Given the description of an element on the screen output the (x, y) to click on. 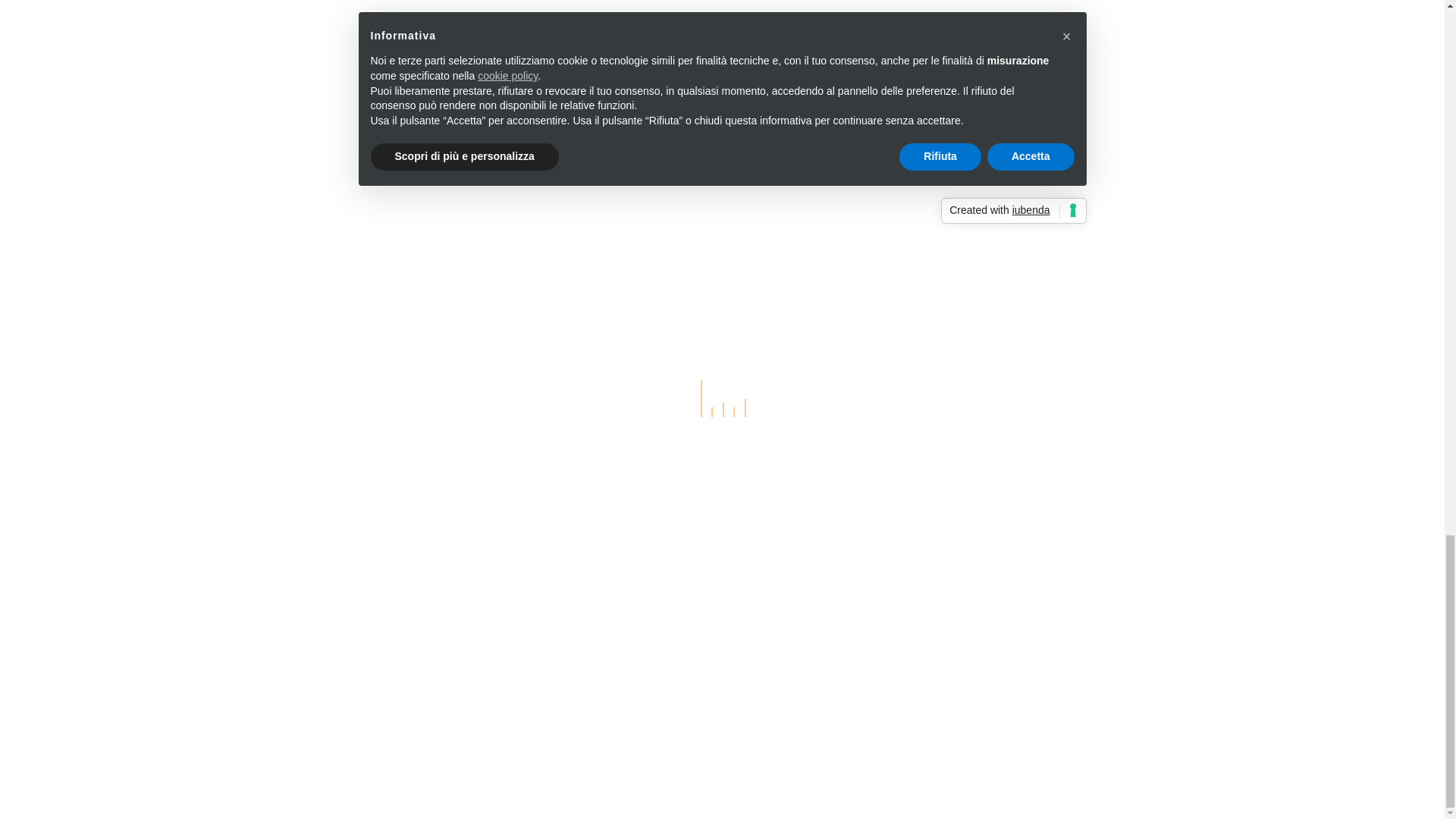
LinkedIn (610, 46)
Home (335, 39)
Privacy Policy  (342, 677)
Pavimenti e Rivestimenti ceramici (426, 84)
Pavimenti e rivestimenti in resine (425, 177)
Prodotti e Servizi (366, 63)
Piastrelle XL (369, 108)
Instagram (645, 46)
Parquet: pavimenti in legno (409, 154)
